Given the description of an element on the screen output the (x, y) to click on. 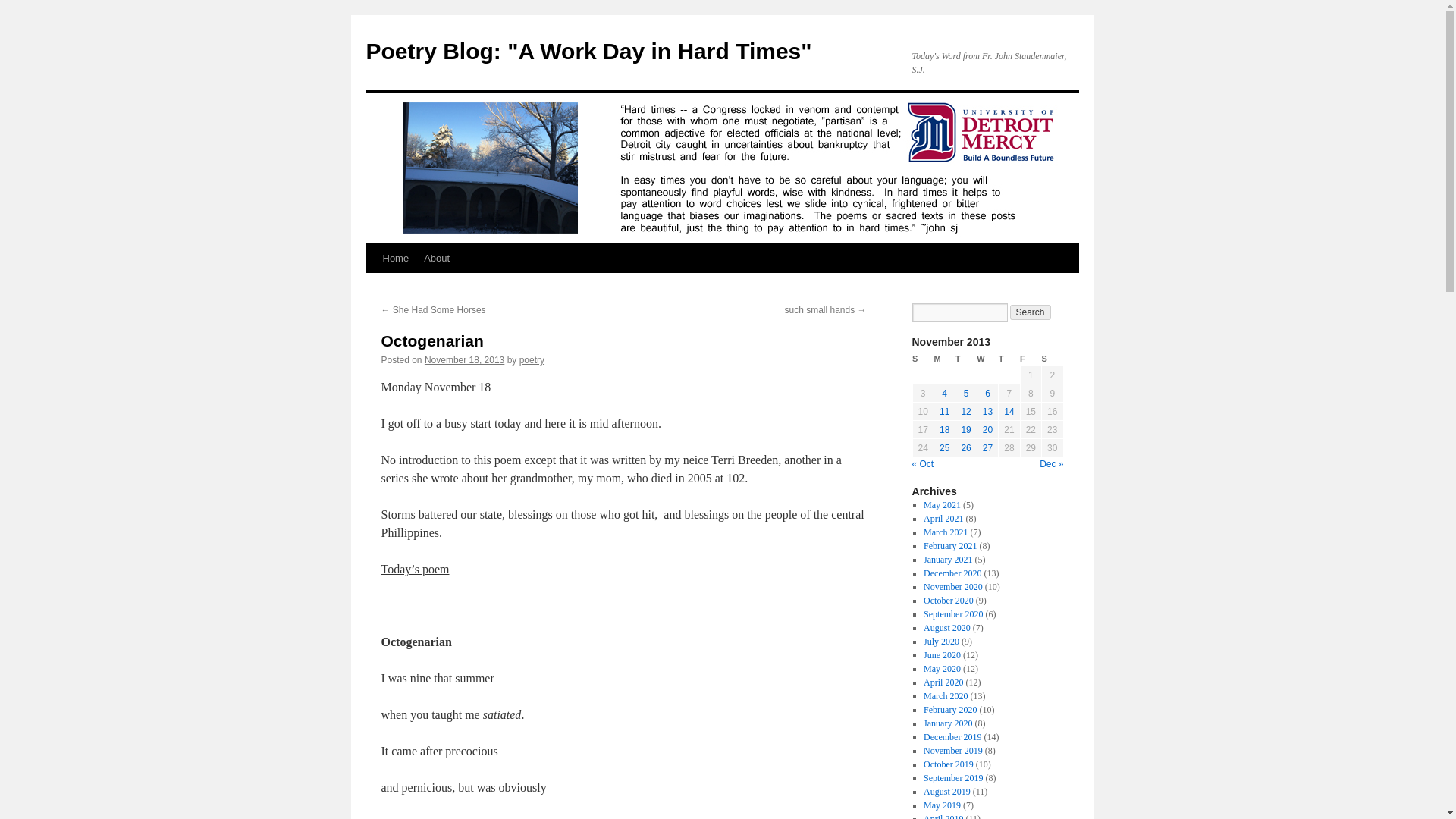
About (436, 258)
Poetry Blog: "A Work Day in Hard Times" (587, 50)
June 2020 (941, 655)
November 18, 2013 (464, 359)
February 2021 (949, 545)
Friday (1030, 359)
July 2020 (941, 641)
Home (395, 258)
18 (944, 429)
11 (944, 411)
